Given the description of an element on the screen output the (x, y) to click on. 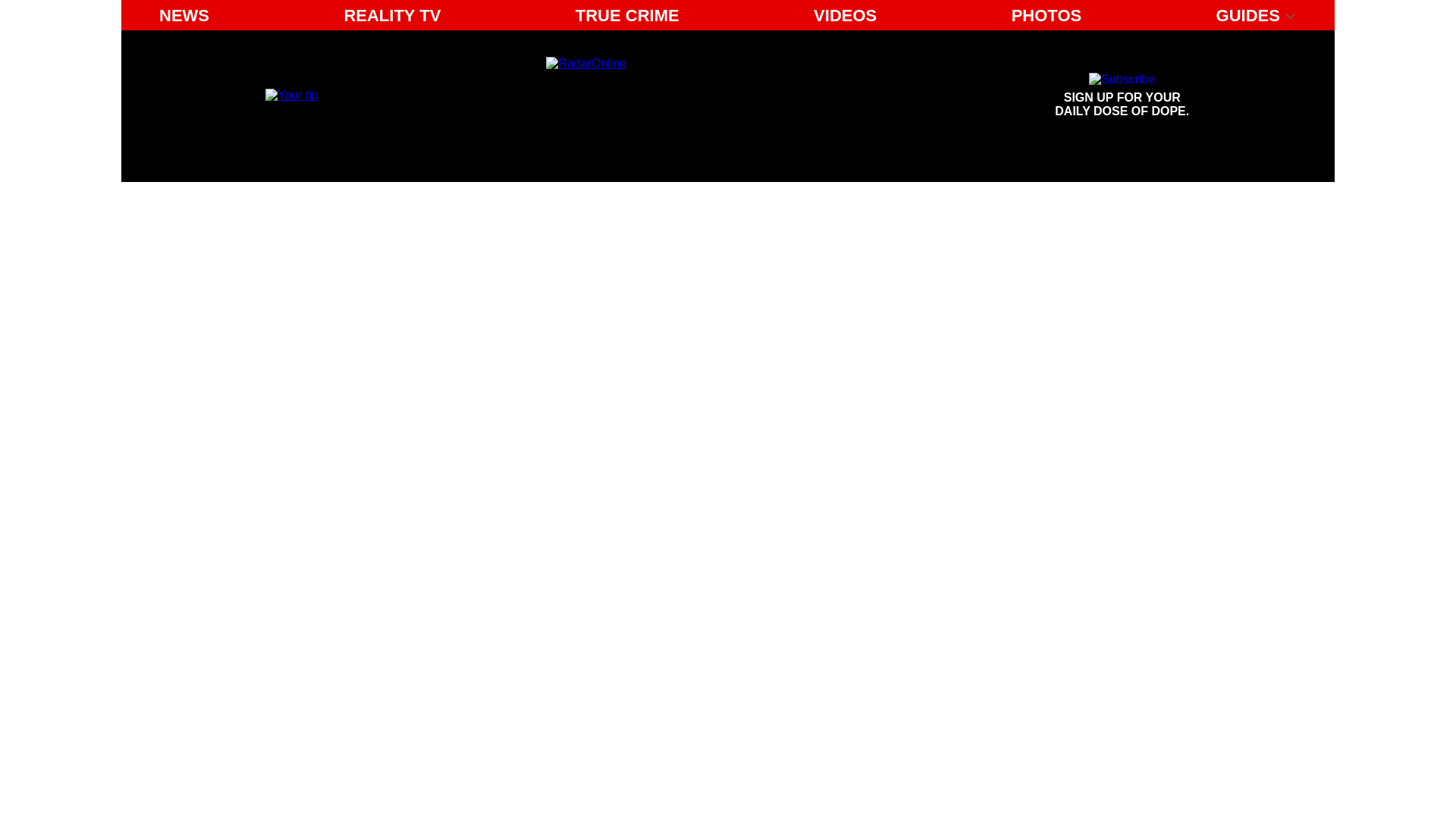
TRUE CRIME (627, 15)
Radar Online (685, 95)
VIDEOS (844, 15)
REALITY TV (392, 15)
Sign up for your daily dose of dope. (1122, 94)
NEWS (183, 15)
PHOTOS (1122, 94)
Email us your tip (1046, 15)
